Given the description of an element on the screen output the (x, y) to click on. 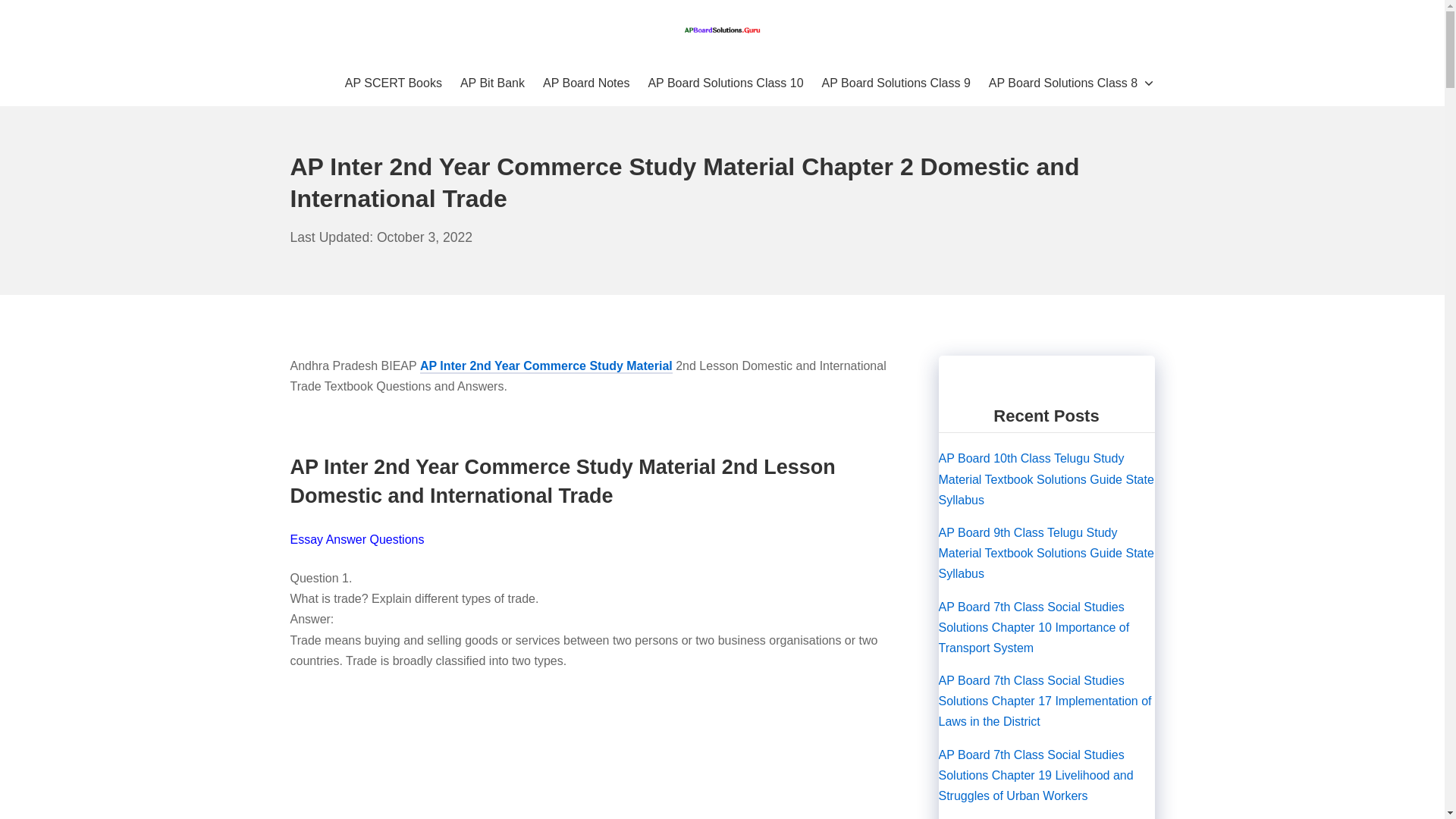
AP Board Solutions (722, 30)
AP SCERT Books (393, 82)
AP Board Solutions Class 9 (896, 82)
AP Bit Bank (492, 82)
AP Board Solutions Class 8 (1071, 82)
October 3, 2022 (380, 237)
AP Inter 2nd Year Commerce Study Material (546, 367)
AP Board Solutions Class 10 (725, 82)
AP Board Notes (585, 82)
Advertisement (590, 754)
